Given the description of an element on the screen output the (x, y) to click on. 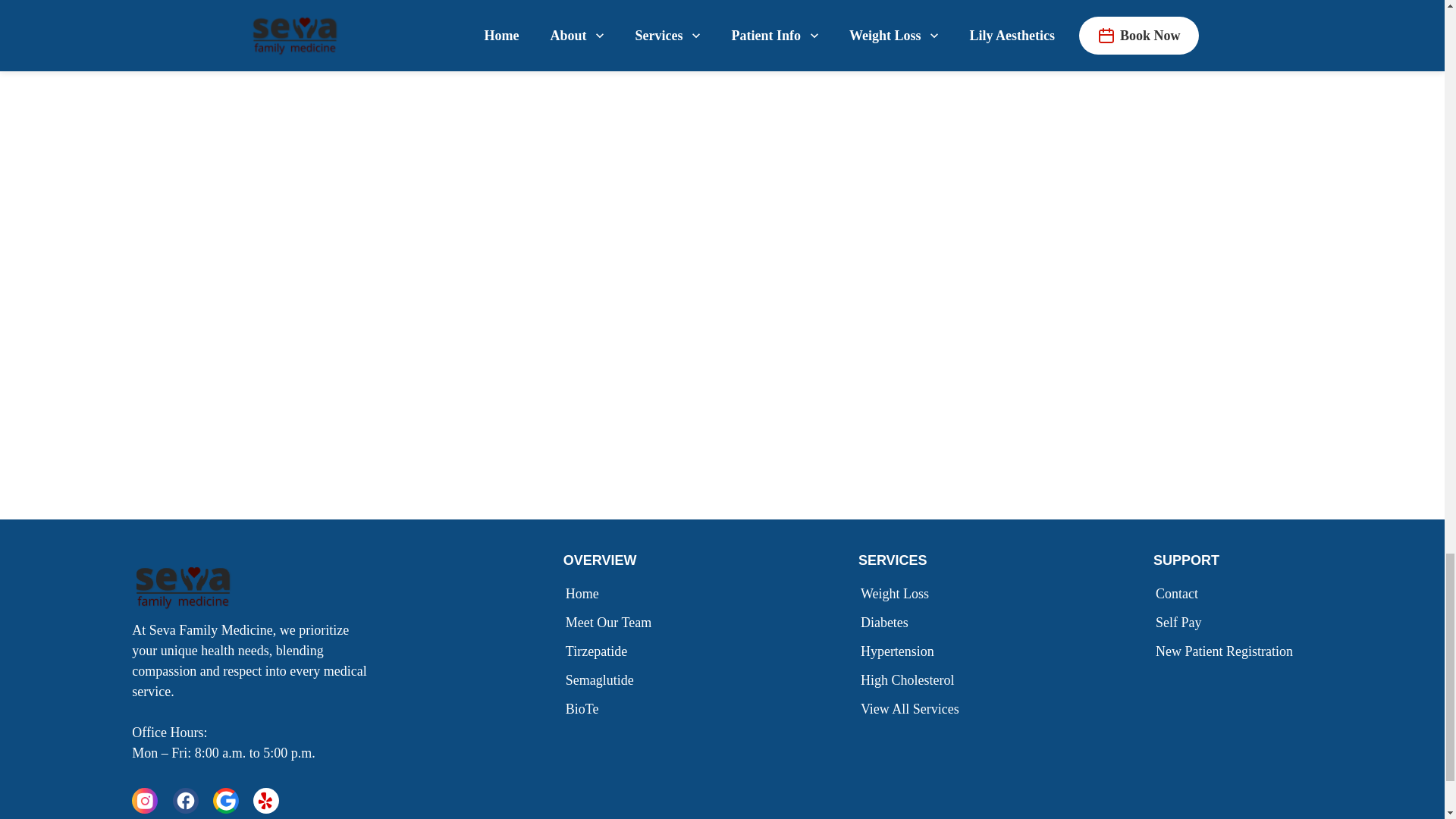
Meet Our Team (611, 621)
Tirzepatide (599, 650)
Self Pay (1182, 621)
Weight Loss (897, 593)
Home (585, 593)
BioTe (585, 708)
Contact (1179, 593)
New Patient Registration (1227, 650)
Diabetes (887, 621)
Semaglutide (602, 680)
View All Services (912, 708)
High Cholesterol (910, 680)
Hypertension (900, 650)
